Given the description of an element on the screen output the (x, y) to click on. 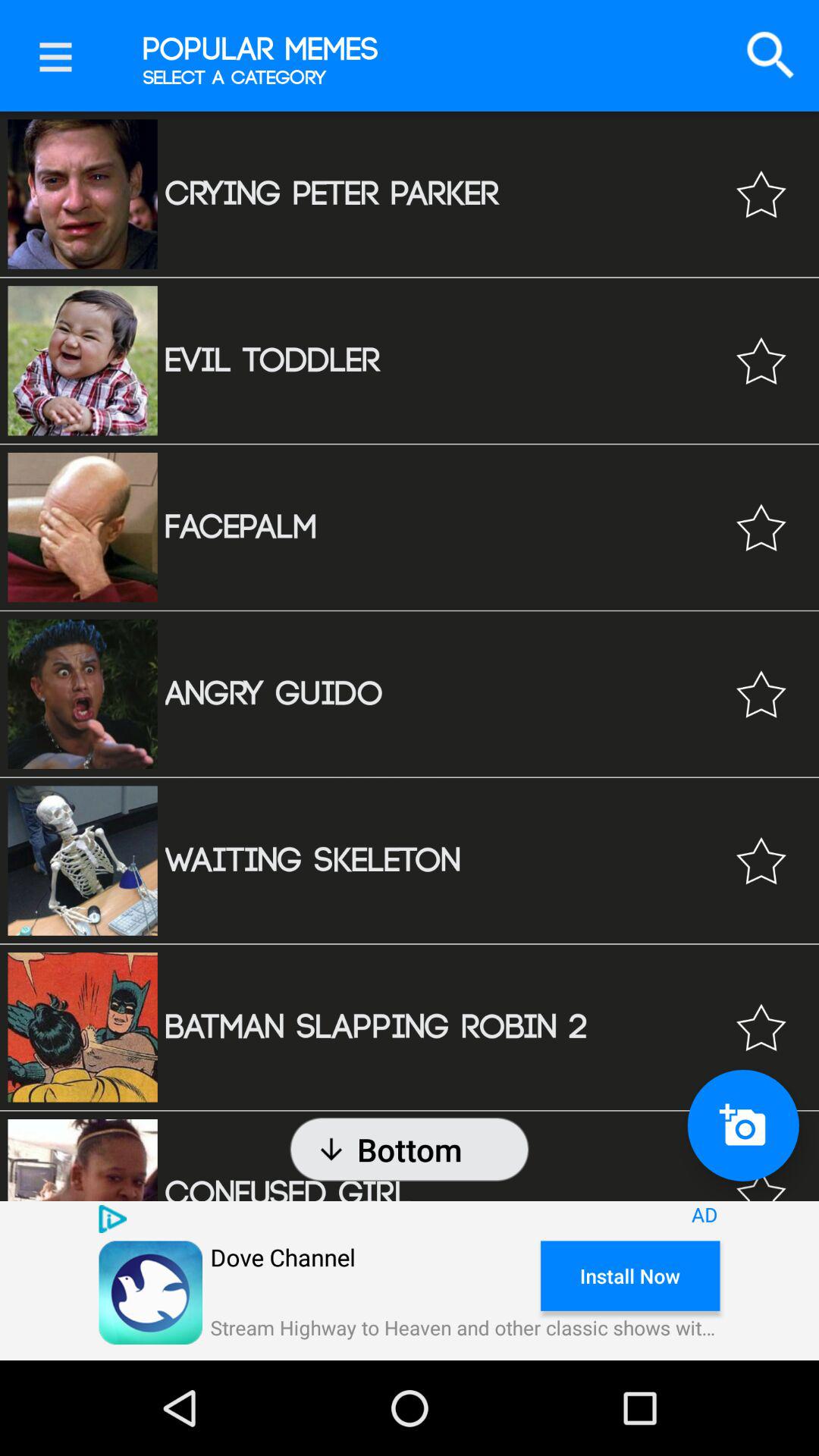
favorite the post (761, 693)
